Given the description of an element on the screen output the (x, y) to click on. 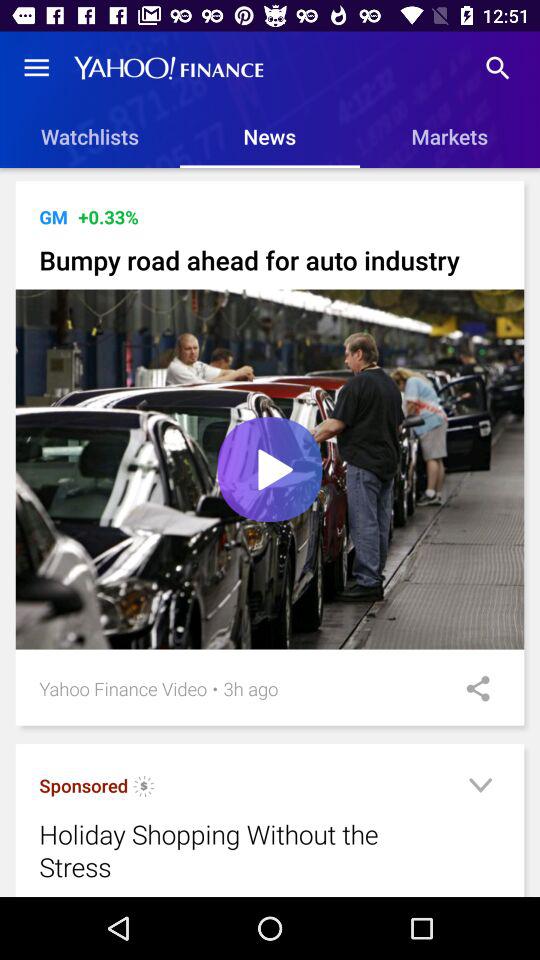
show more (480, 788)
